Given the description of an element on the screen output the (x, y) to click on. 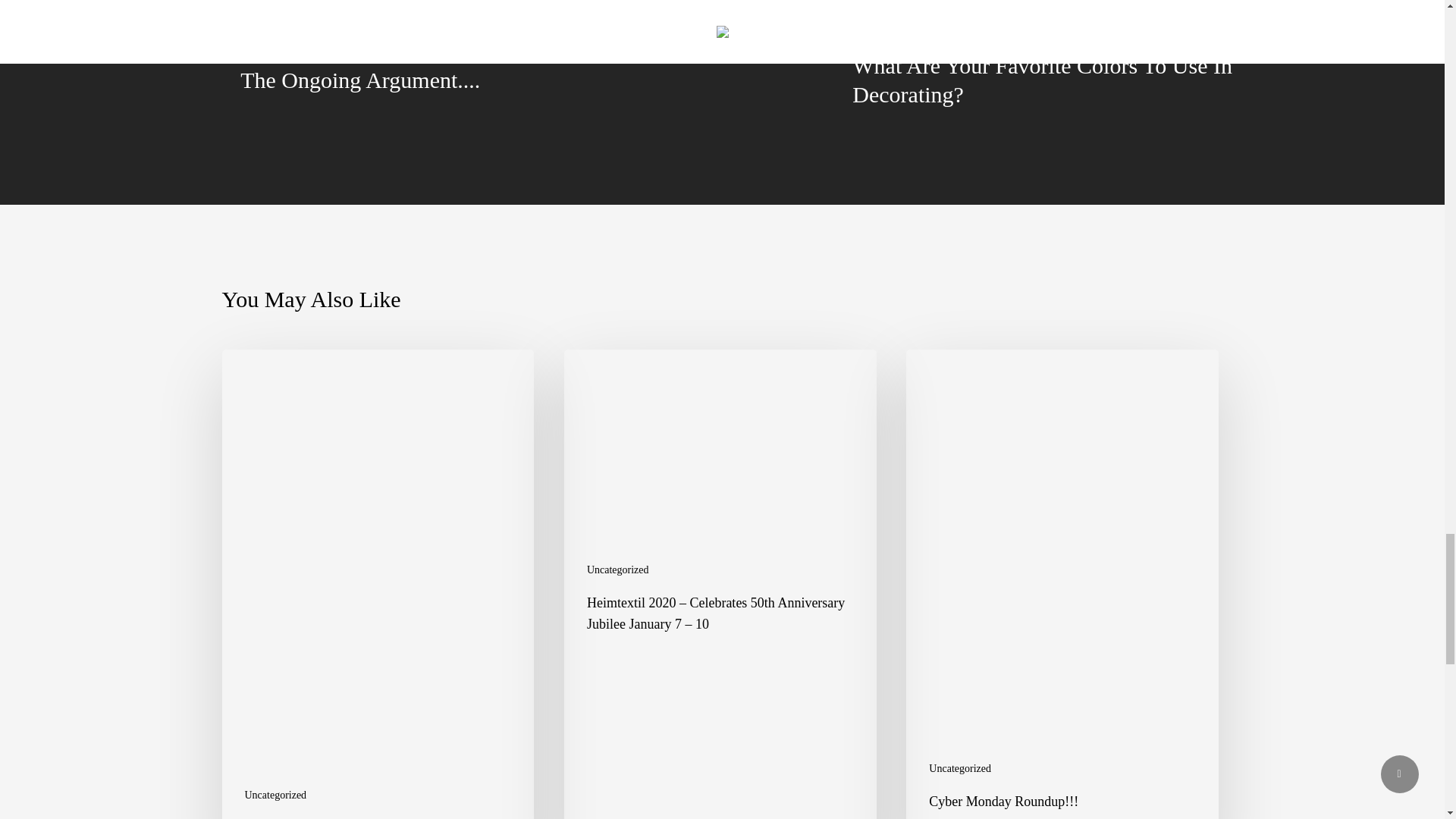
Uncategorized (617, 569)
Uncategorized (274, 794)
Uncategorized (959, 768)
